Given the description of an element on the screen output the (x, y) to click on. 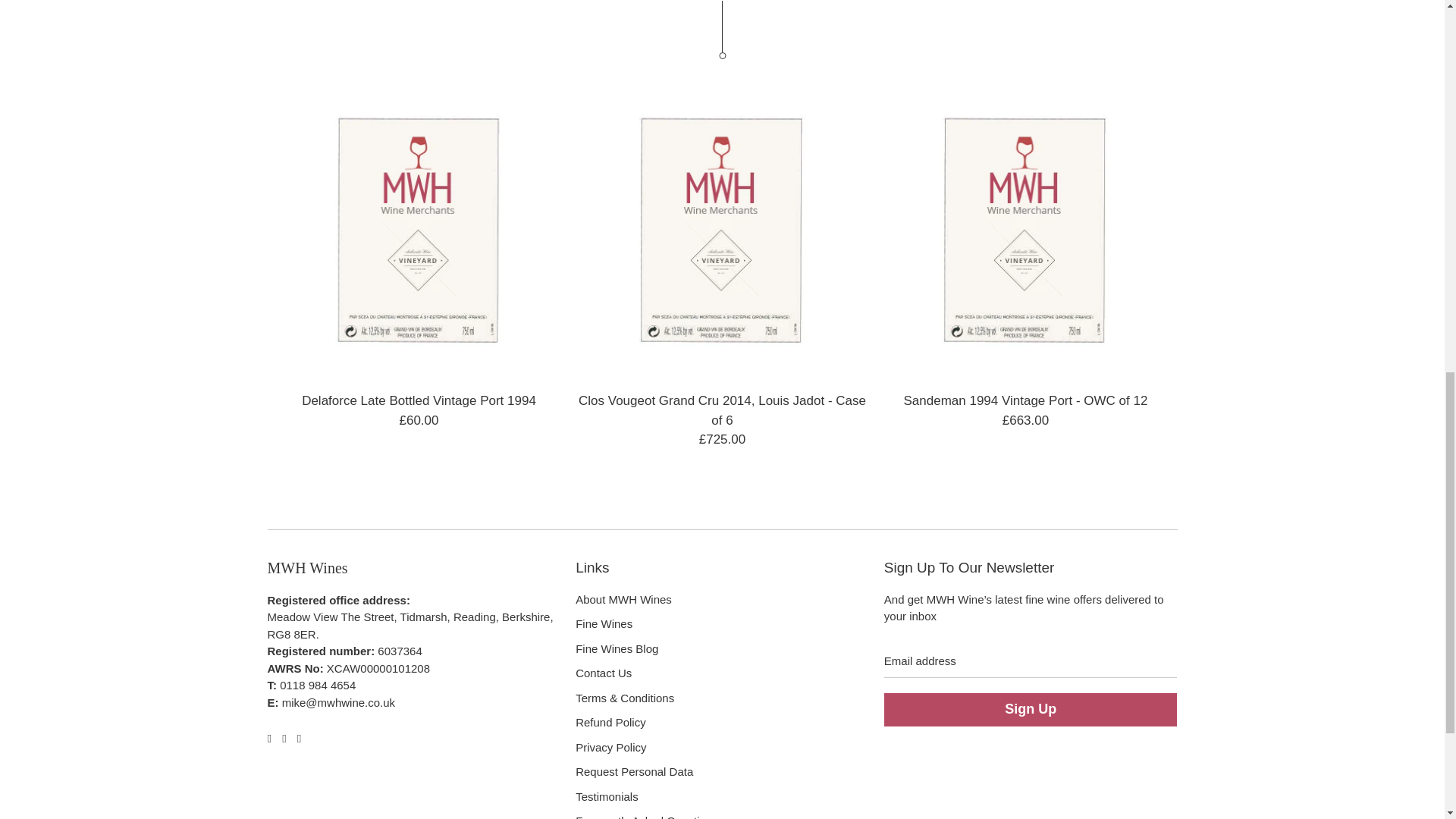
Sign Up (1030, 709)
Delaforce Late Bottled Vintage Port 1994 (418, 231)
